Given the description of an element on the screen output the (x, y) to click on. 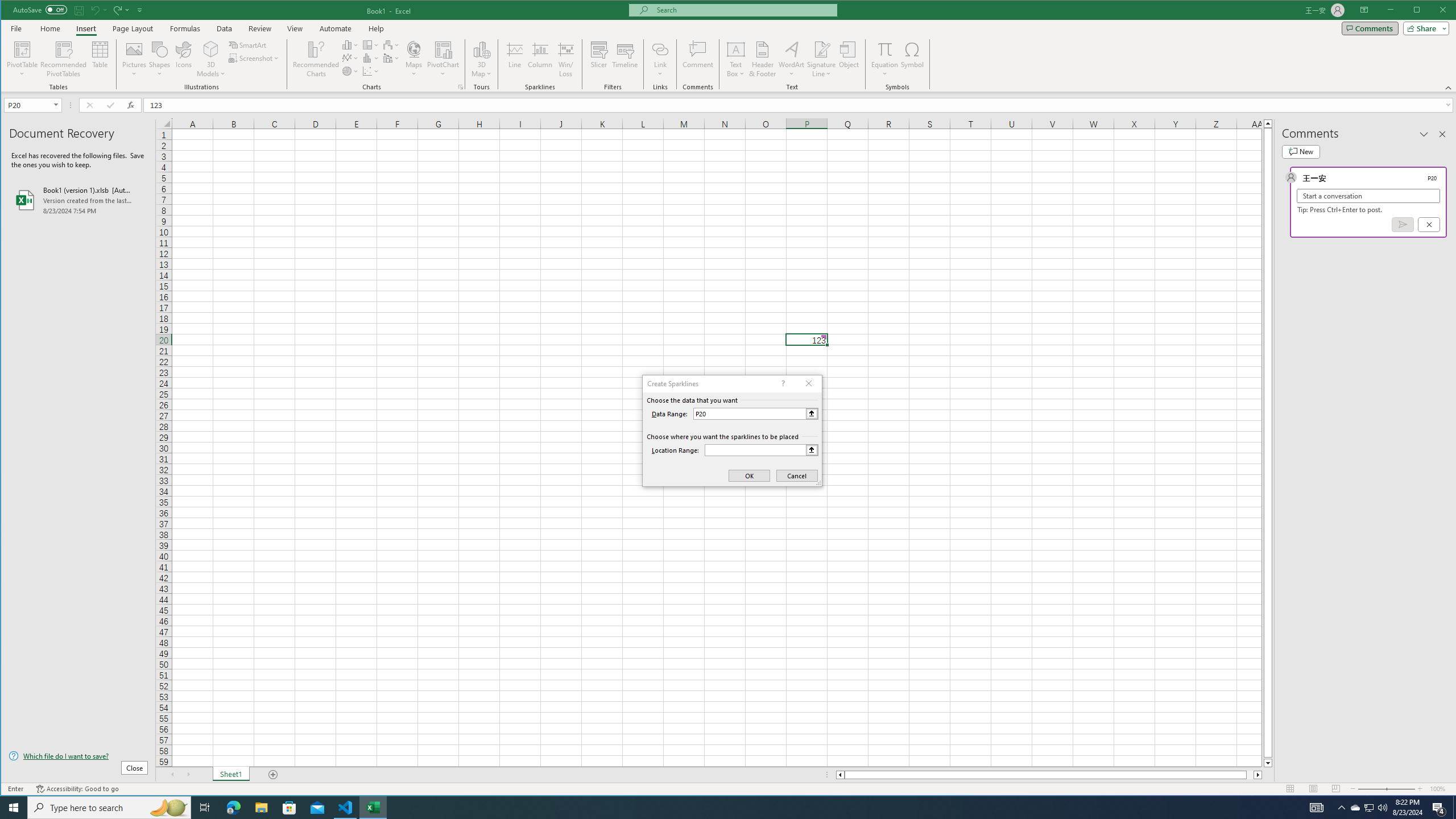
PivotTable (22, 48)
PivotChart (443, 59)
Signature Line (821, 59)
Post comment (Ctrl + Enter) (1402, 224)
